Given the description of an element on the screen output the (x, y) to click on. 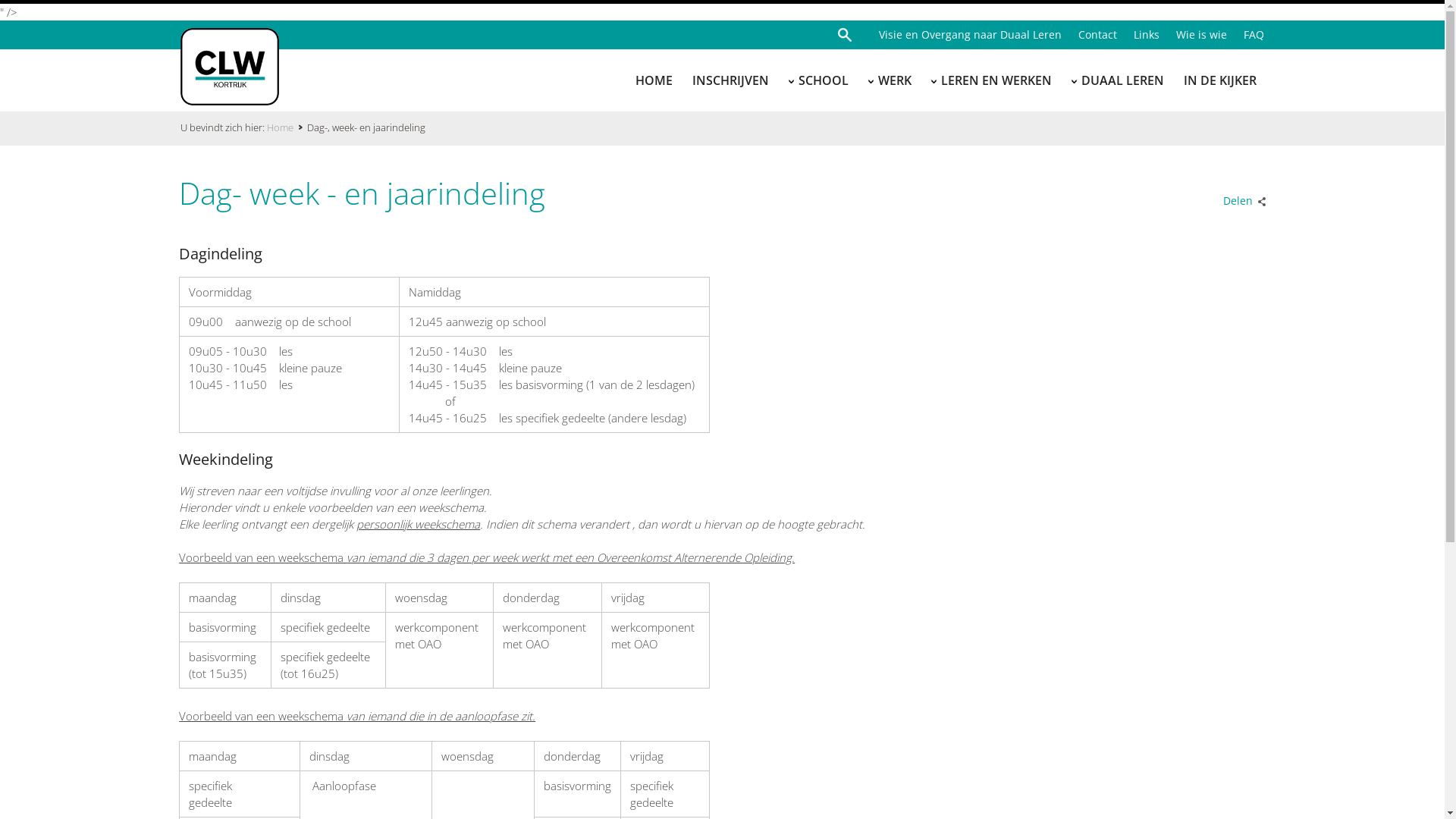
Home Element type: text (286, 127)
WERK Element type: text (894, 79)
Zoeken Element type: hover (846, 34)
SCHOOL Element type: text (823, 79)
IN DE KIJKER Element type: text (1219, 79)
DUAAL LEREN Element type: text (1122, 79)
Delen Element type: text (1241, 196)
Visie en Overgang naar Duaal Leren Element type: text (961, 34)
HOME Element type: text (653, 79)
Links Element type: text (1138, 34)
Contact Element type: text (1089, 34)
LEREN EN WERKEN Element type: text (996, 79)
INSCHRIJVEN Element type: text (730, 79)
FAQ Element type: text (1245, 34)
Wie is wie Element type: text (1192, 34)
  Element type: text (846, 34)
